Given the description of an element on the screen output the (x, y) to click on. 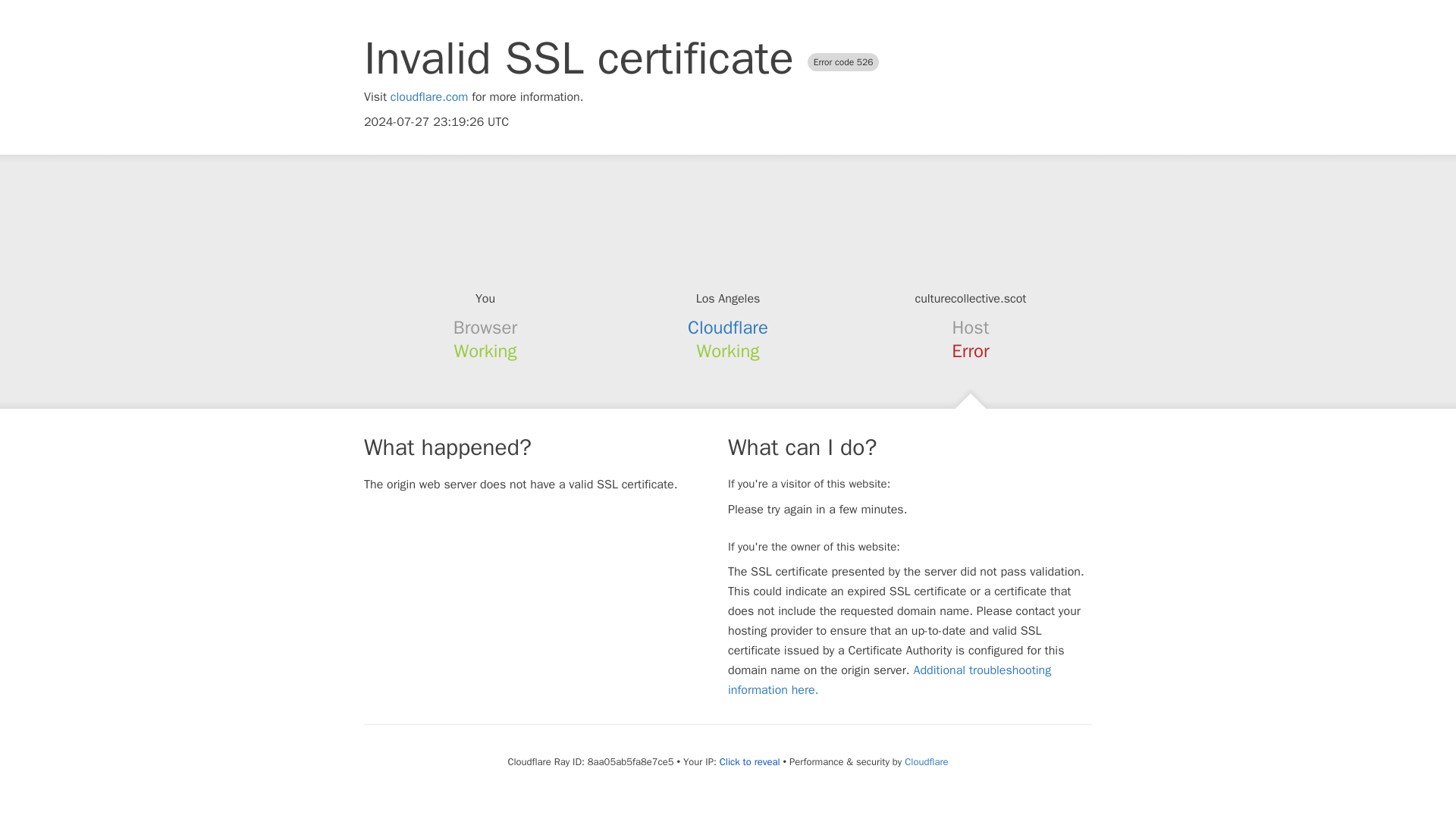
Click to reveal (749, 762)
Cloudflare (727, 327)
Additional troubleshooting information here. (889, 679)
Cloudflare (925, 761)
cloudflare.com (429, 96)
